Given the description of an element on the screen output the (x, y) to click on. 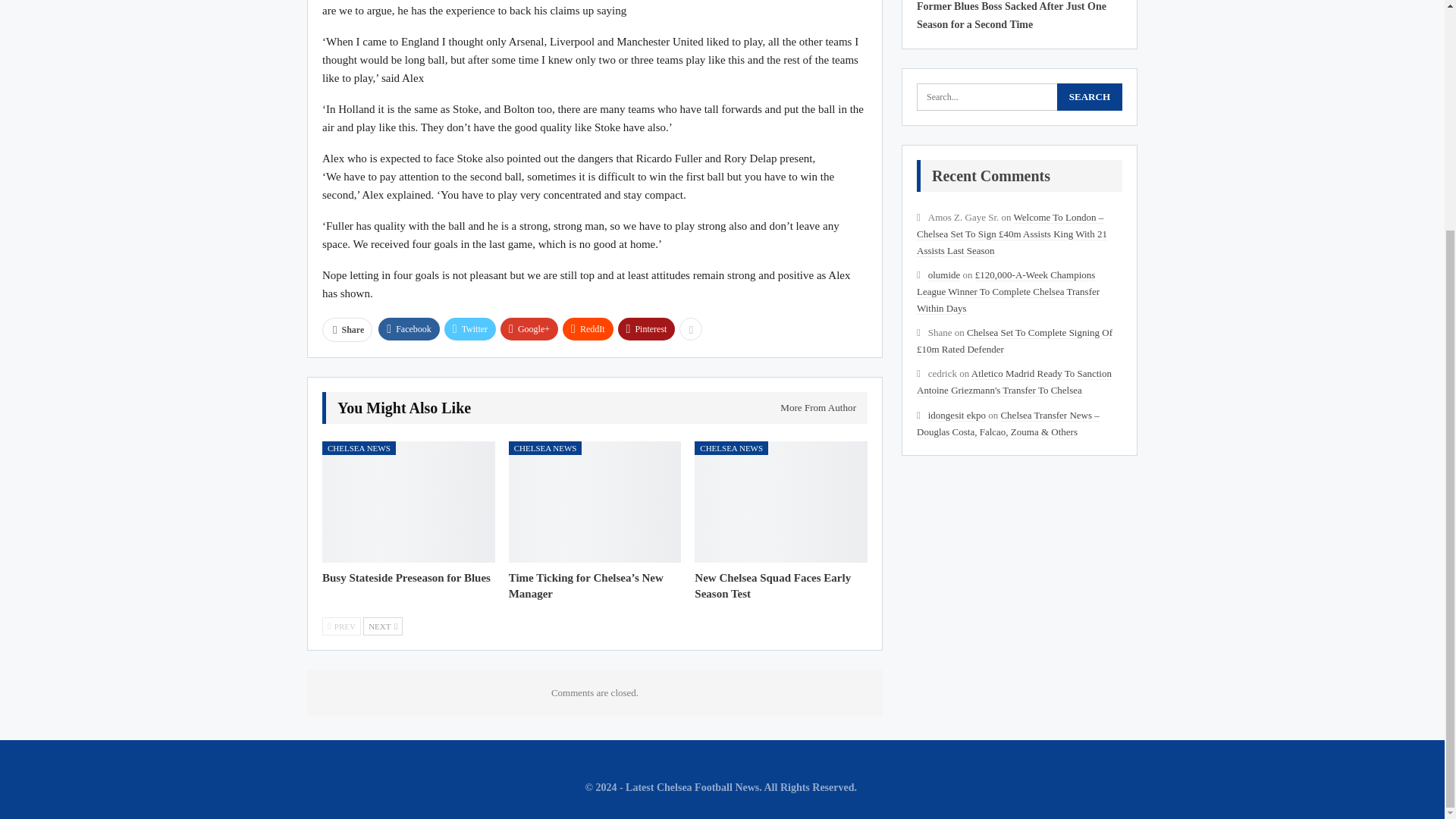
CHELSEA NEWS (731, 448)
Facebook (408, 328)
More From Author (813, 408)
CHELSEA NEWS (358, 448)
New Chelsea Squad Faces Early Season Test (772, 585)
You Might Also Like (403, 408)
Previous (341, 626)
CHELSEA NEWS (545, 448)
Next (382, 626)
Busy Stateside Preseason for Blues (405, 577)
